Given the description of an element on the screen output the (x, y) to click on. 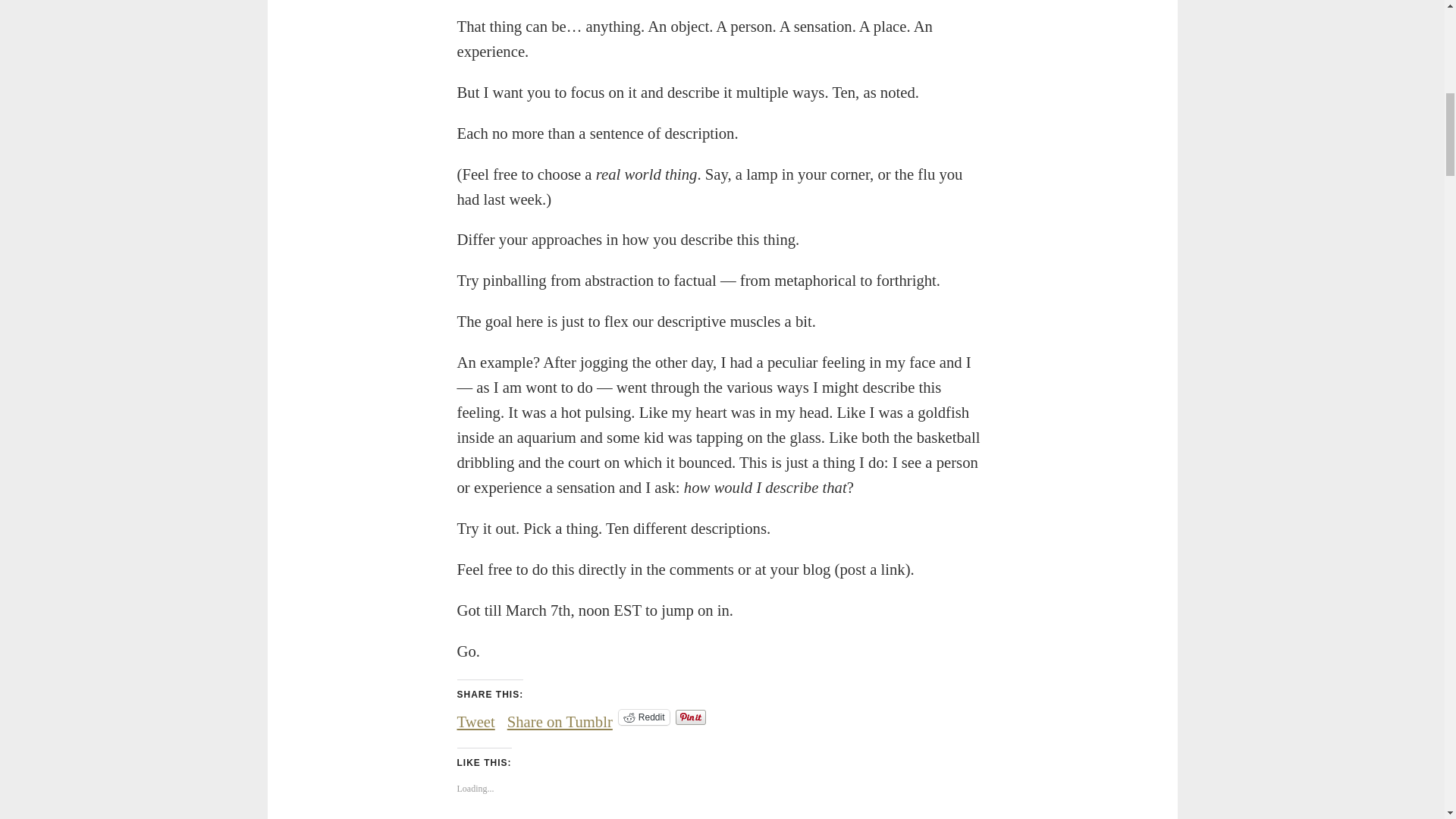
Share on Tumblr (559, 716)
Click to share on Reddit (643, 717)
Tweet (476, 716)
Reddit (643, 717)
Share on Tumblr (559, 716)
